Given the description of an element on the screen output the (x, y) to click on. 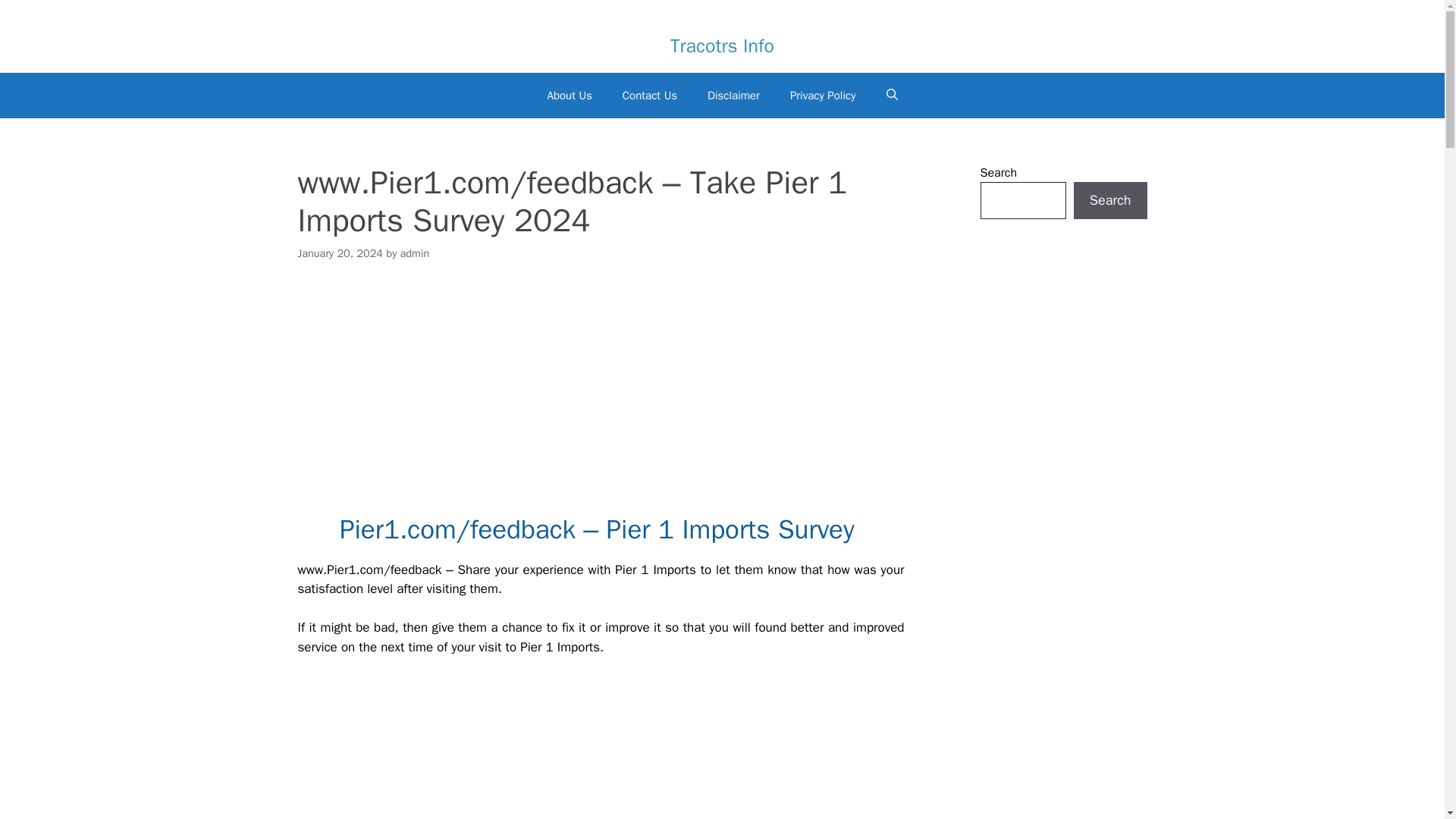
Privacy Policy (822, 94)
admin (414, 252)
About Us (569, 94)
Advertisement (600, 393)
Search (1110, 200)
Advertisement (600, 747)
View all posts by admin (414, 252)
Contact Us (650, 94)
Disclaimer (733, 94)
Tracotrs Info (721, 44)
